Given the description of an element on the screen output the (x, y) to click on. 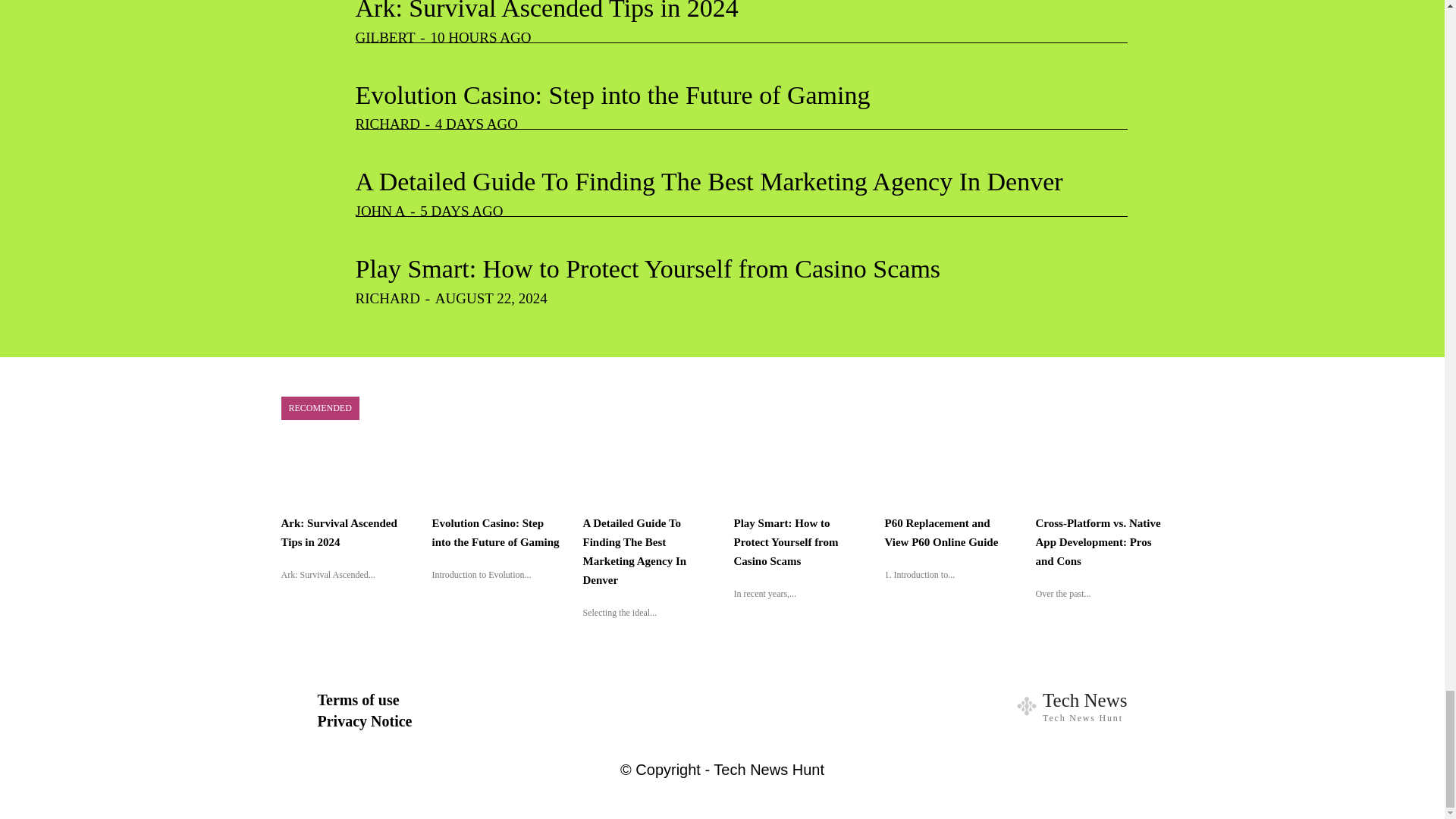
Ark: Survival Ascended Tips in 2024 (546, 11)
Ark: Survival Ascended Tips in 2024 (546, 11)
Play Smart: How to Protect Yourself from Casino Scams (647, 268)
Evolution Casino: Step into the Future of Gaming (612, 94)
Evolution Casino: Step into the Future of Gaming (612, 94)
GILBERT (384, 37)
